Given the description of an element on the screen output the (x, y) to click on. 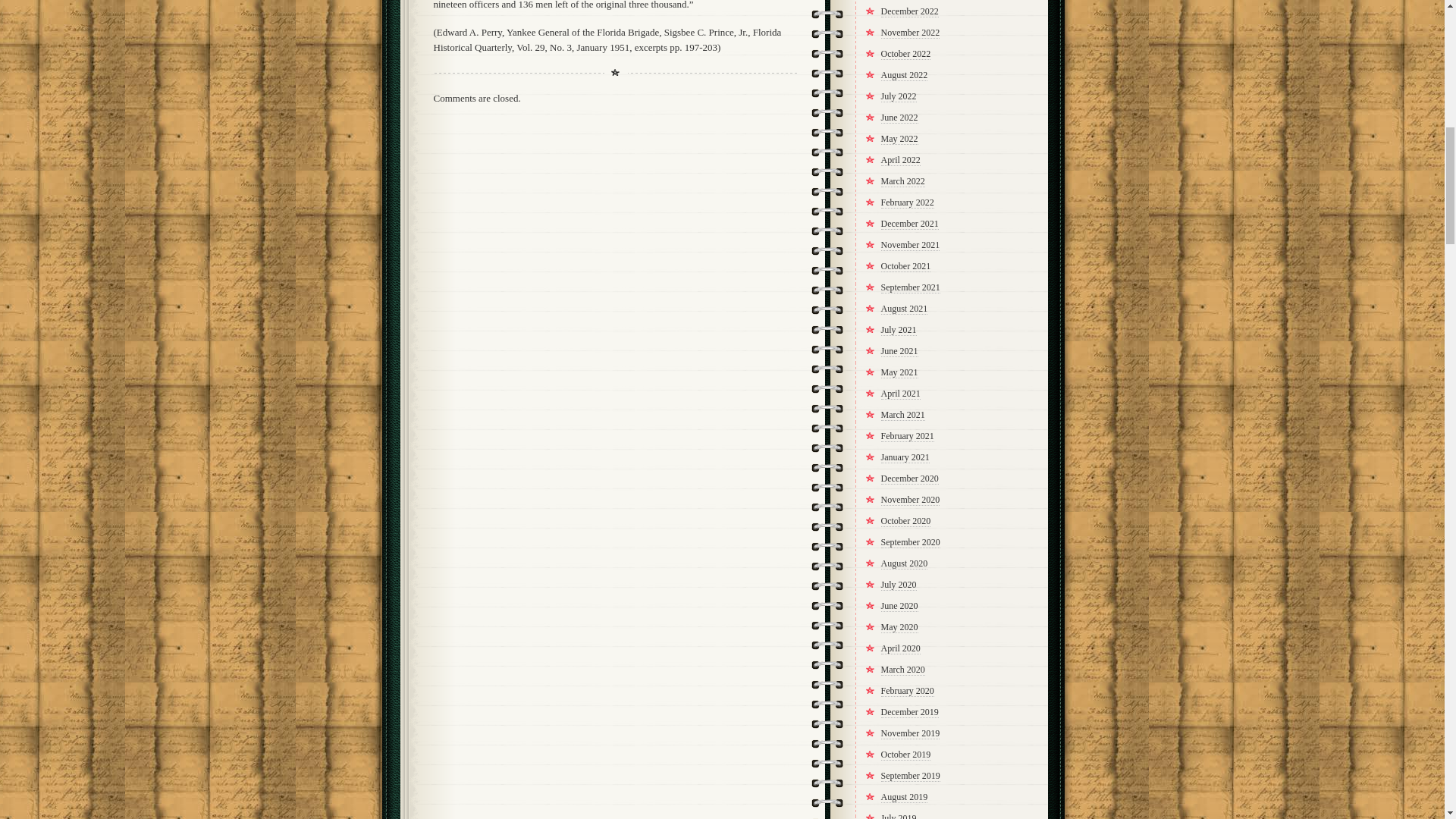
August 2022 (904, 75)
May 2022 (899, 138)
June 2022 (899, 117)
July 2022 (898, 96)
December 2022 (909, 11)
November 2022 (910, 32)
October 2022 (905, 53)
